Given the description of an element on the screen output the (x, y) to click on. 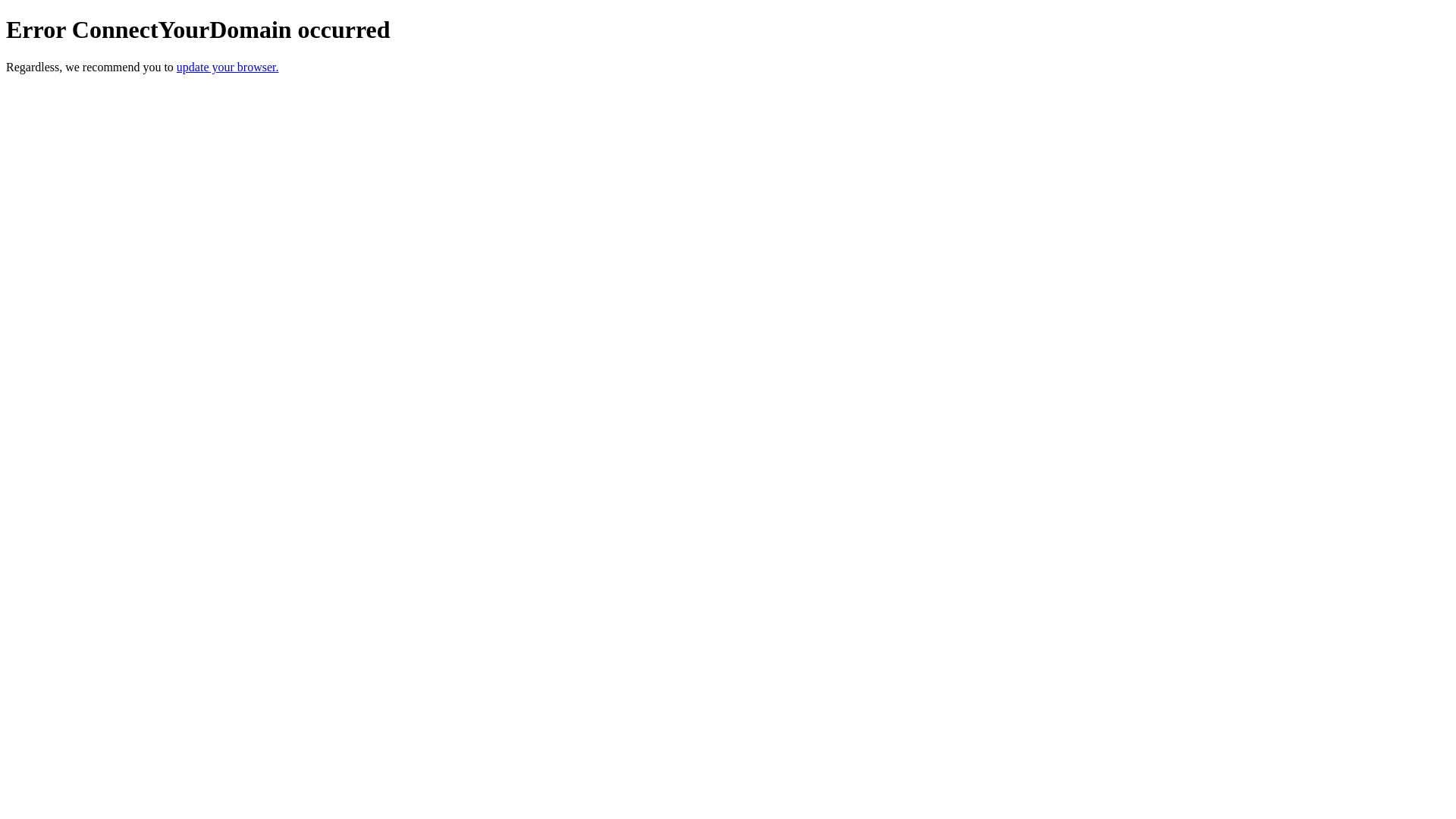
update your browser. Element type: text (227, 66)
